Given the description of an element on the screen output the (x, y) to click on. 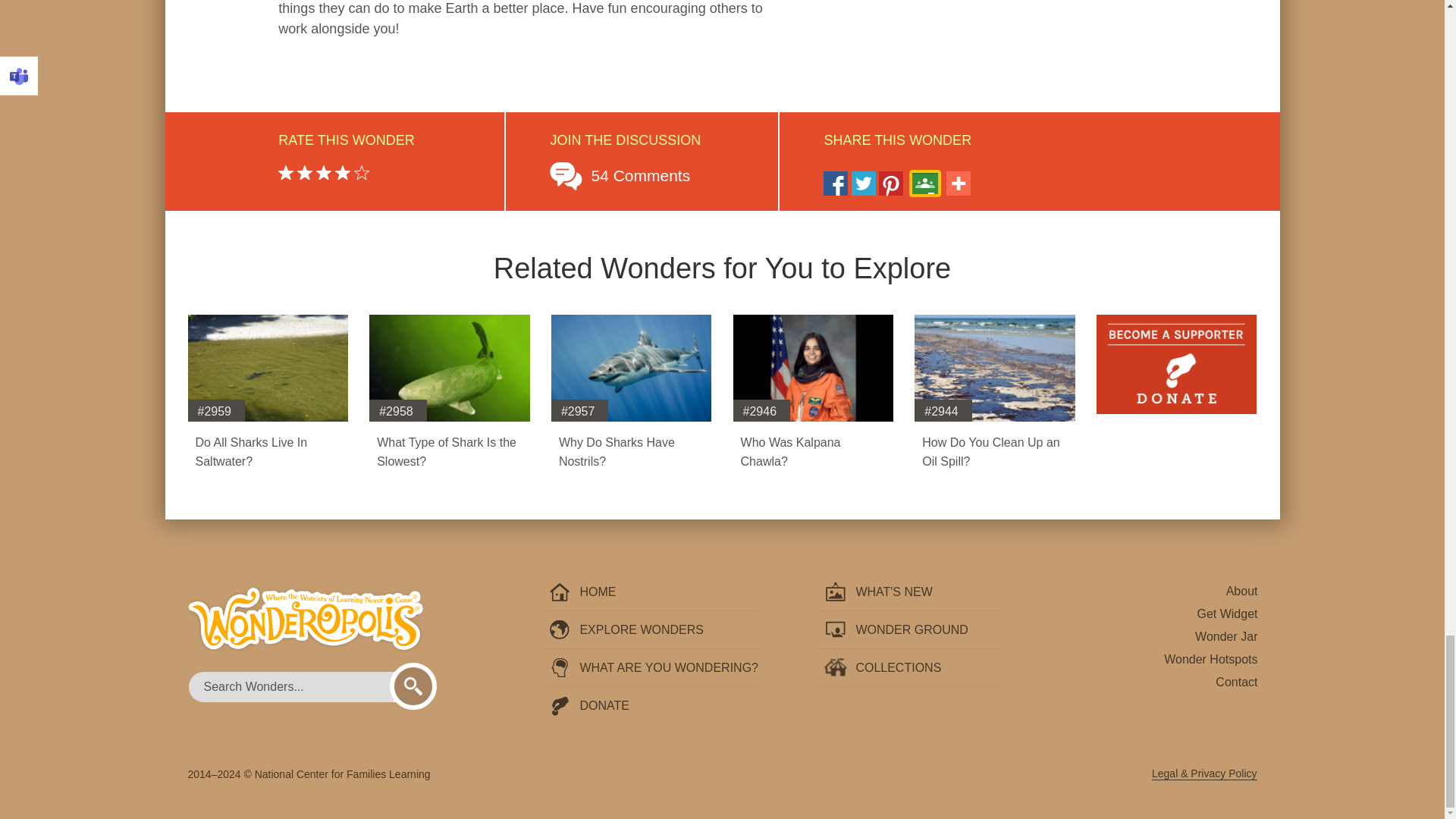
submit (413, 686)
